Given the description of an element on the screen output the (x, y) to click on. 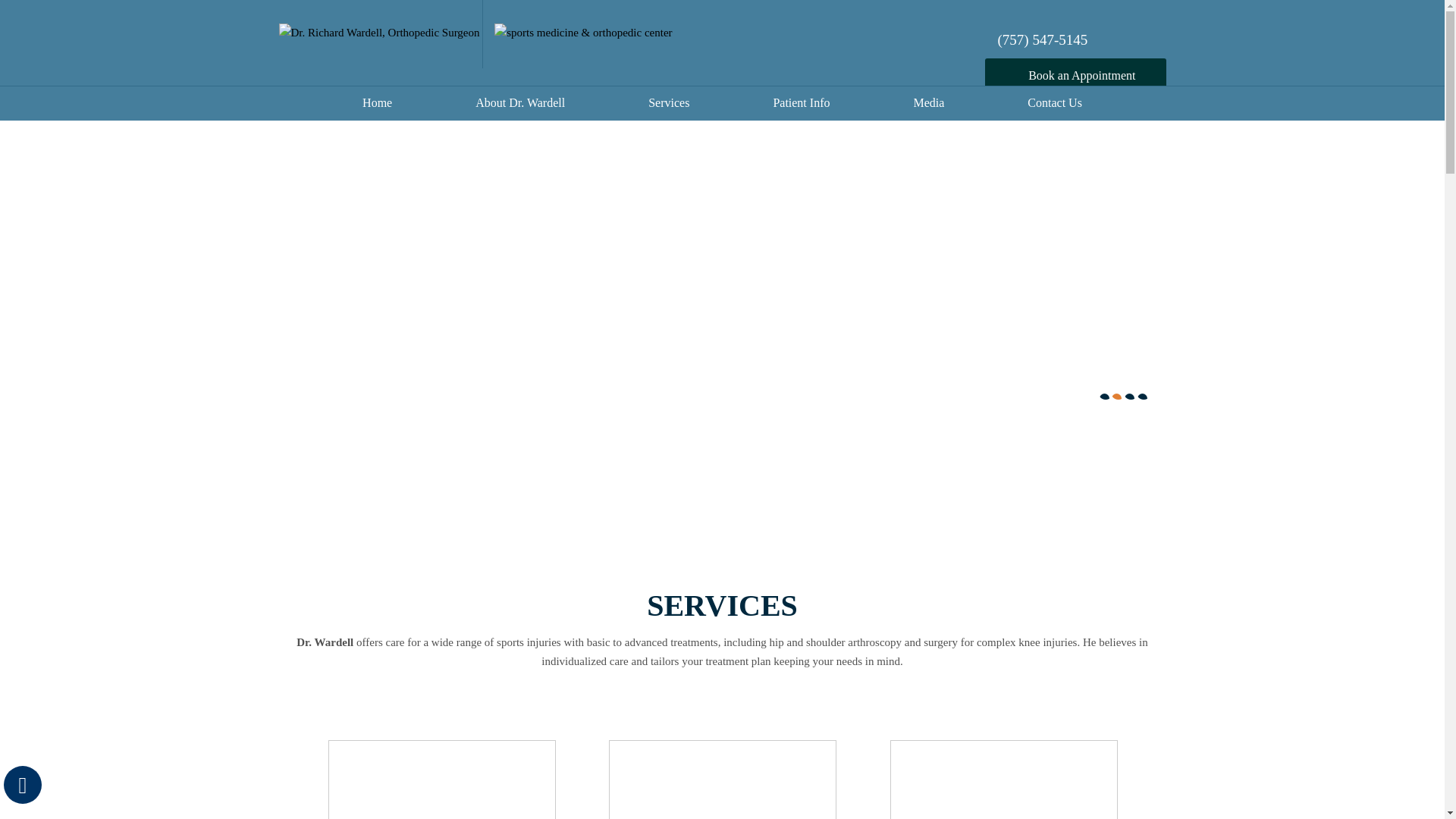
Accessible Tool Options (23, 784)
Patient Info (801, 106)
Book an Appointment (1075, 75)
Hide (22, 784)
Home (376, 106)
About Dr. Wardell (520, 106)
Services (667, 106)
